Given the description of an element on the screen output the (x, y) to click on. 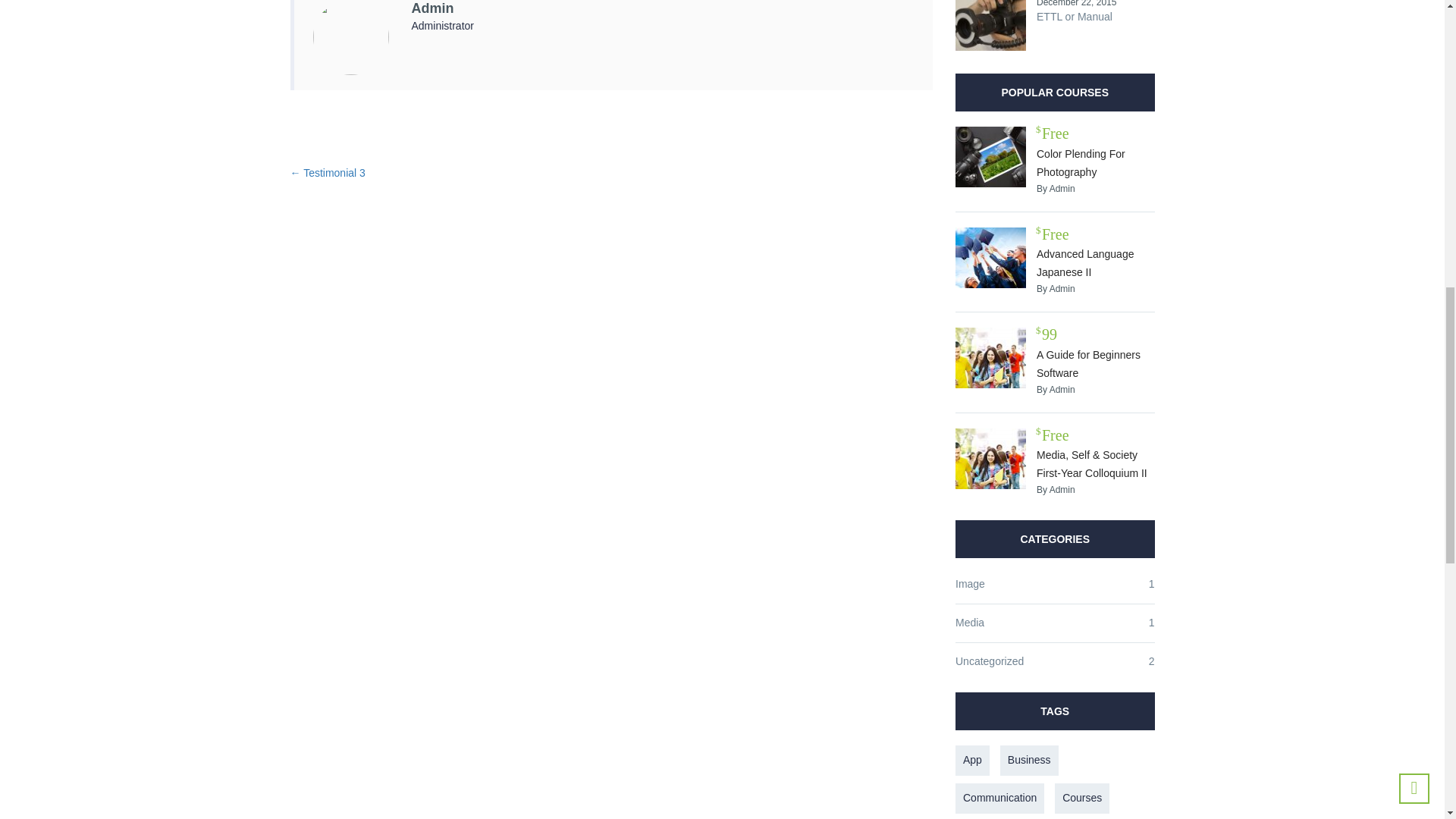
Admin (431, 7)
